Given the description of an element on the screen output the (x, y) to click on. 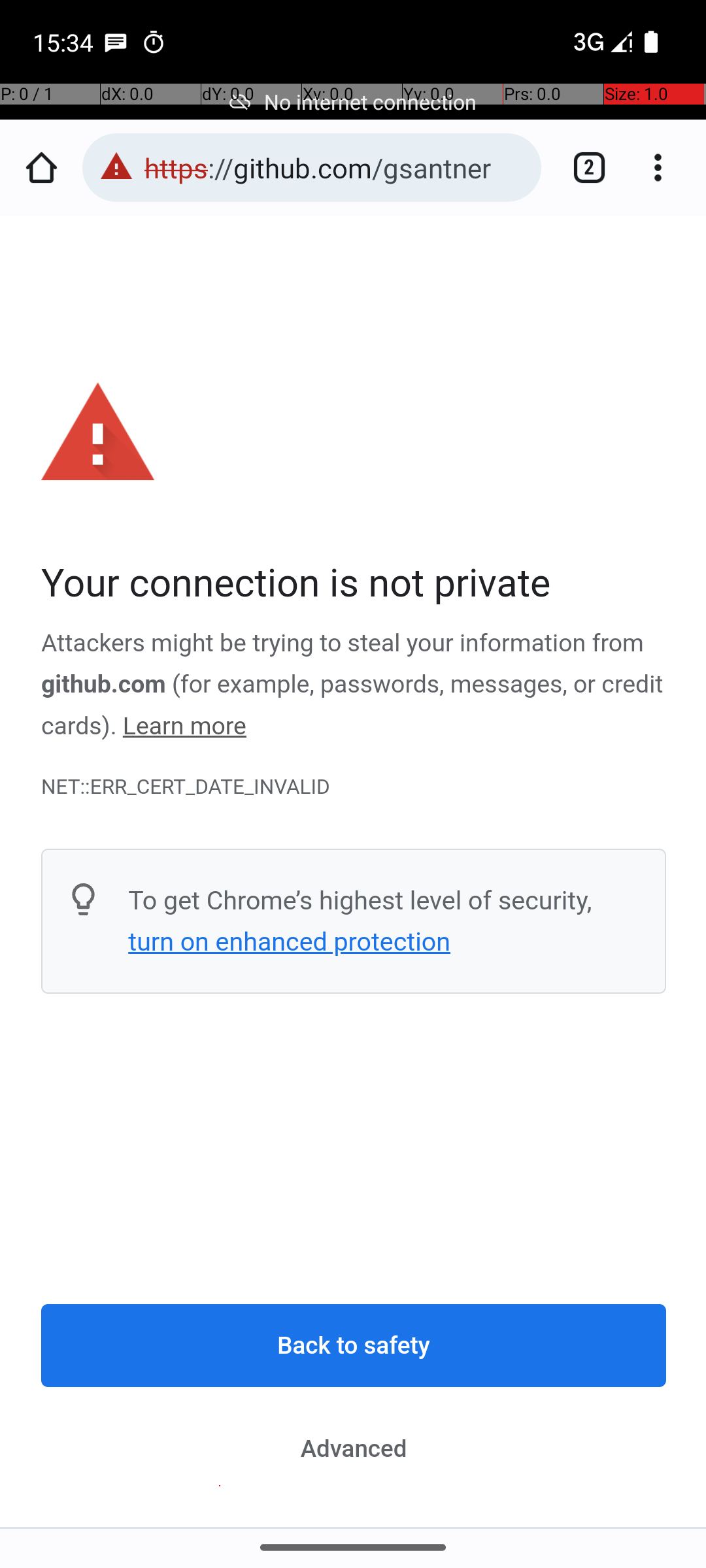
https://github.com/gsantner Element type: android.widget.EditText (335, 167)
